Given the description of an element on the screen output the (x, y) to click on. 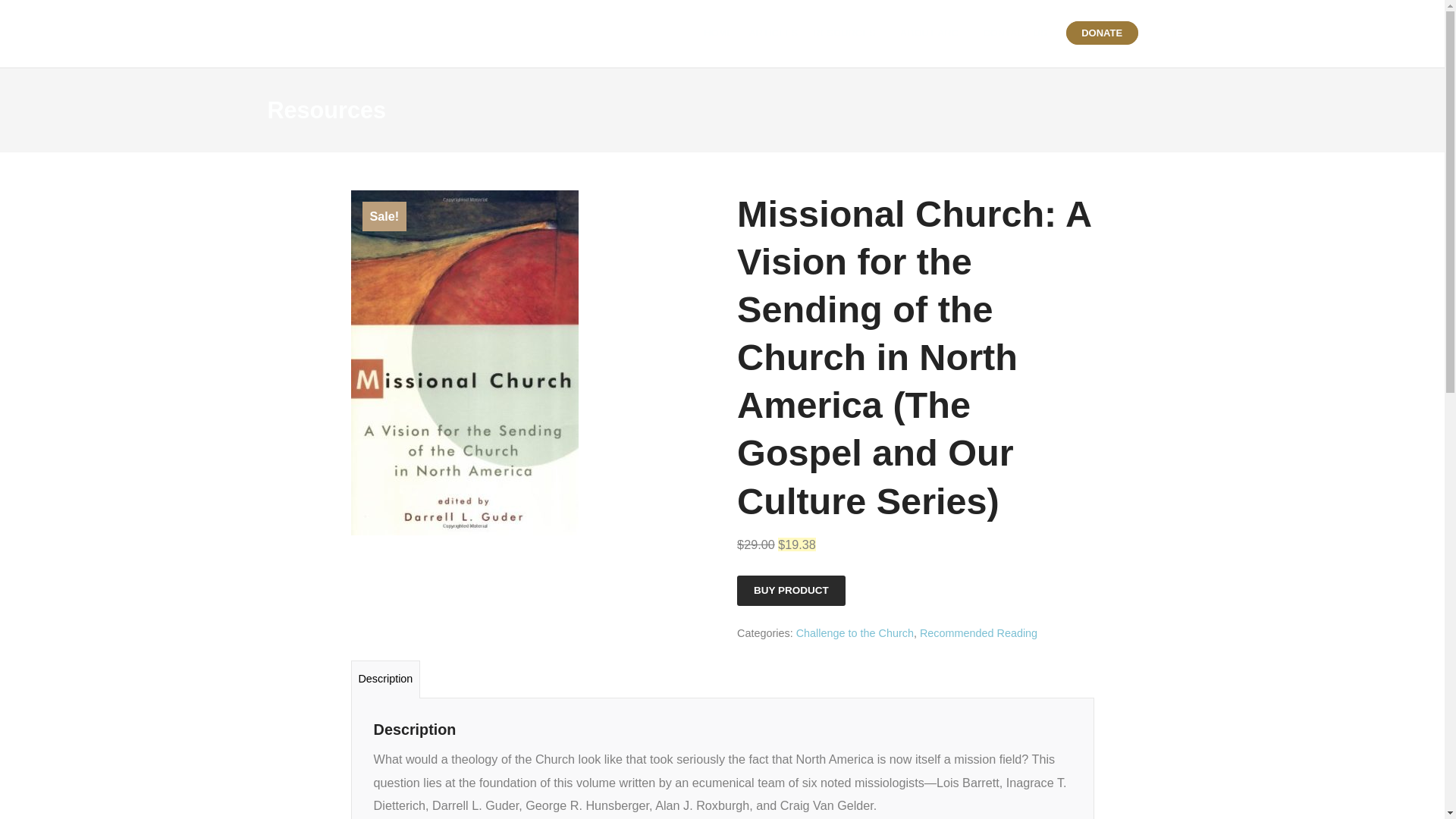
RESOURCES (848, 33)
Challenge to the Church (855, 633)
ABOUT ARC (933, 33)
Recommended Reading (978, 633)
Description (385, 678)
BUY PRODUCT (790, 590)
DONATE (1101, 33)
CONTACT US (1014, 33)
ARTICLES (773, 33)
